Given the description of an element on the screen output the (x, y) to click on. 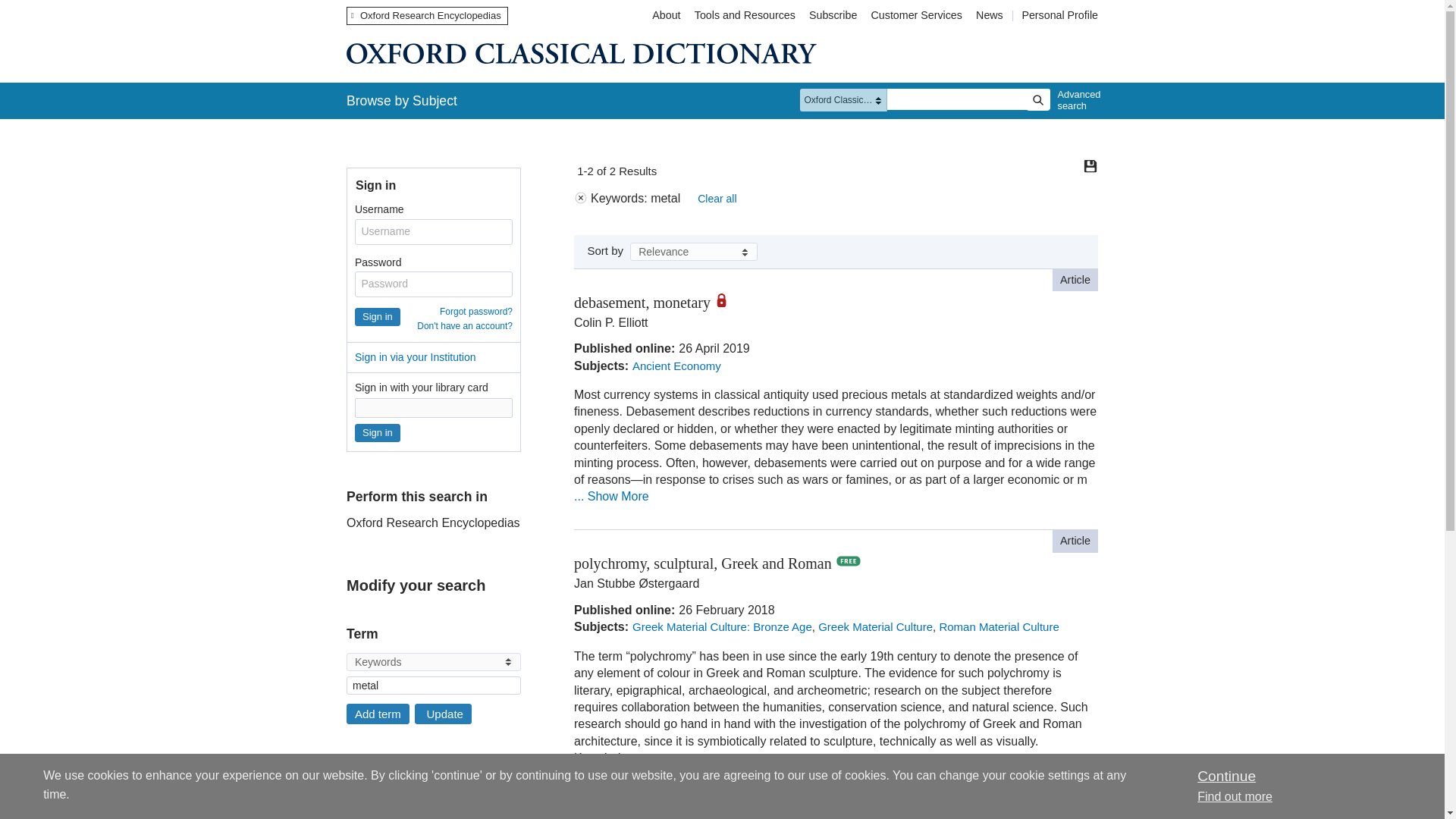
Customer Services (917, 15)
Find out more (1234, 796)
Subscribe (832, 15)
Search (1037, 99)
 Update (442, 713)
free (351, 806)
Search (1037, 99)
Browse by Subject (401, 100)
free full text access (848, 561)
Oxford Classical Dictionary (581, 53)
